Given the description of an element on the screen output the (x, y) to click on. 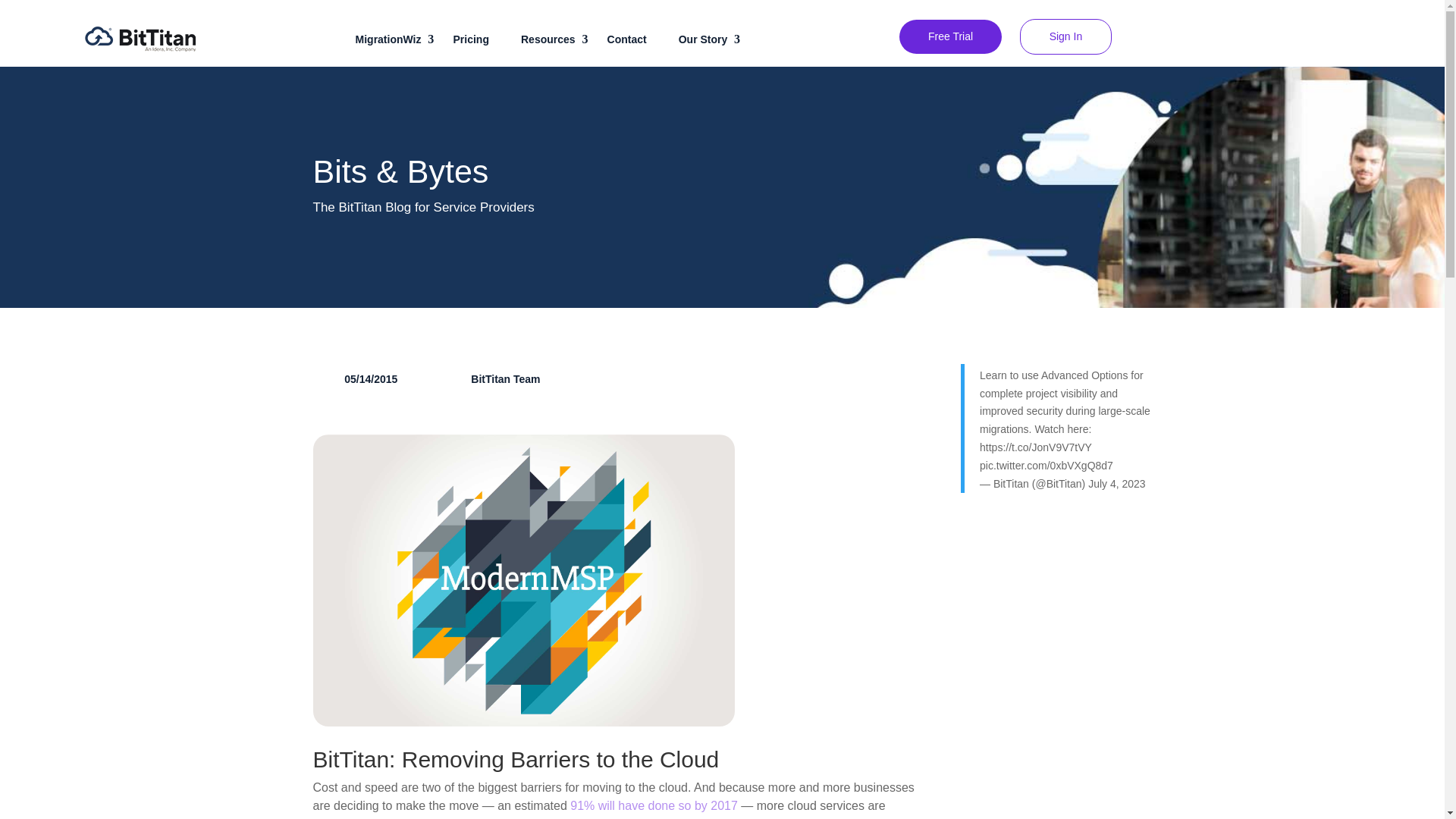
Contact (634, 39)
Resources (556, 39)
Pricing (477, 39)
MigrationWiz (395, 39)
Our Story (710, 39)
Free Trial (950, 36)
